Given the description of an element on the screen output the (x, y) to click on. 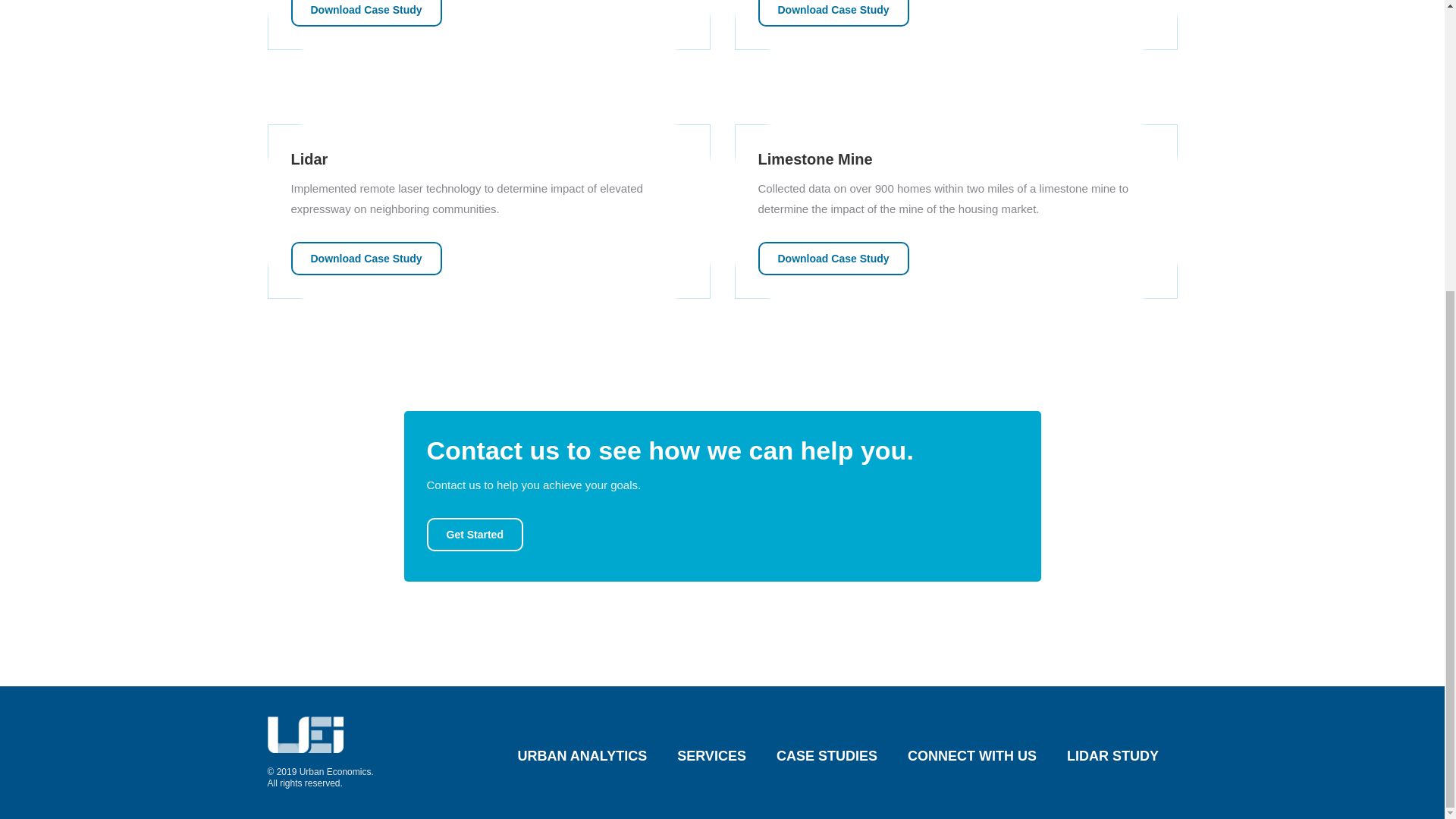
LIDAR STUDY (1112, 756)
Download Case Study (366, 258)
Download Case Study (833, 258)
Download Case Study (833, 13)
CASE STUDIES (826, 756)
CONNECT WITH US (972, 756)
Get Started (474, 534)
URBAN ANALYTICS (582, 756)
SERVICES (711, 756)
Download Case Study (366, 13)
